Given the description of an element on the screen output the (x, y) to click on. 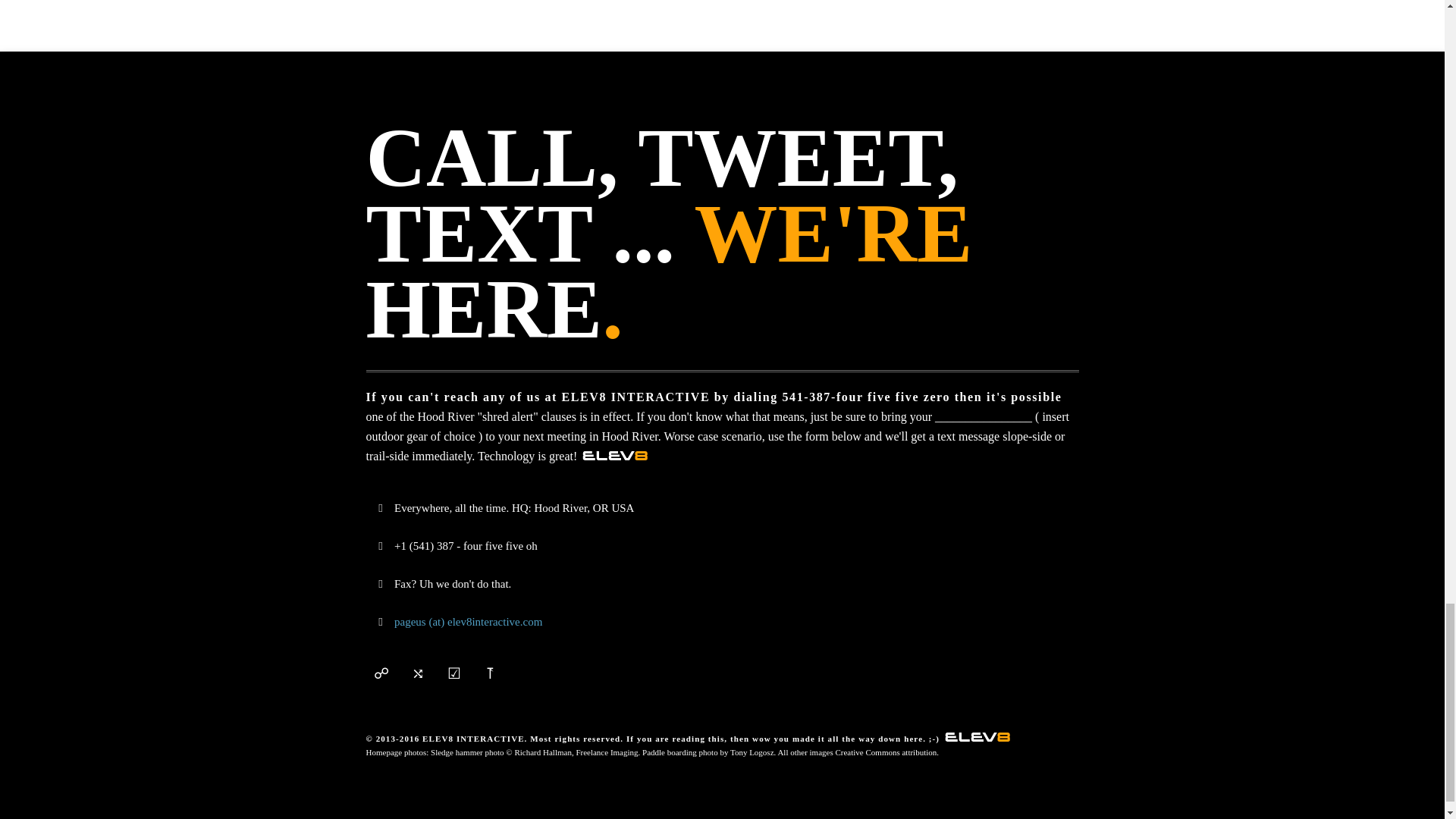
View Vimeo Profile (453, 673)
View Twitter Profile (380, 673)
View Facebook Profile (416, 673)
View Linkedin Profile (489, 673)
